Given the description of an element on the screen output the (x, y) to click on. 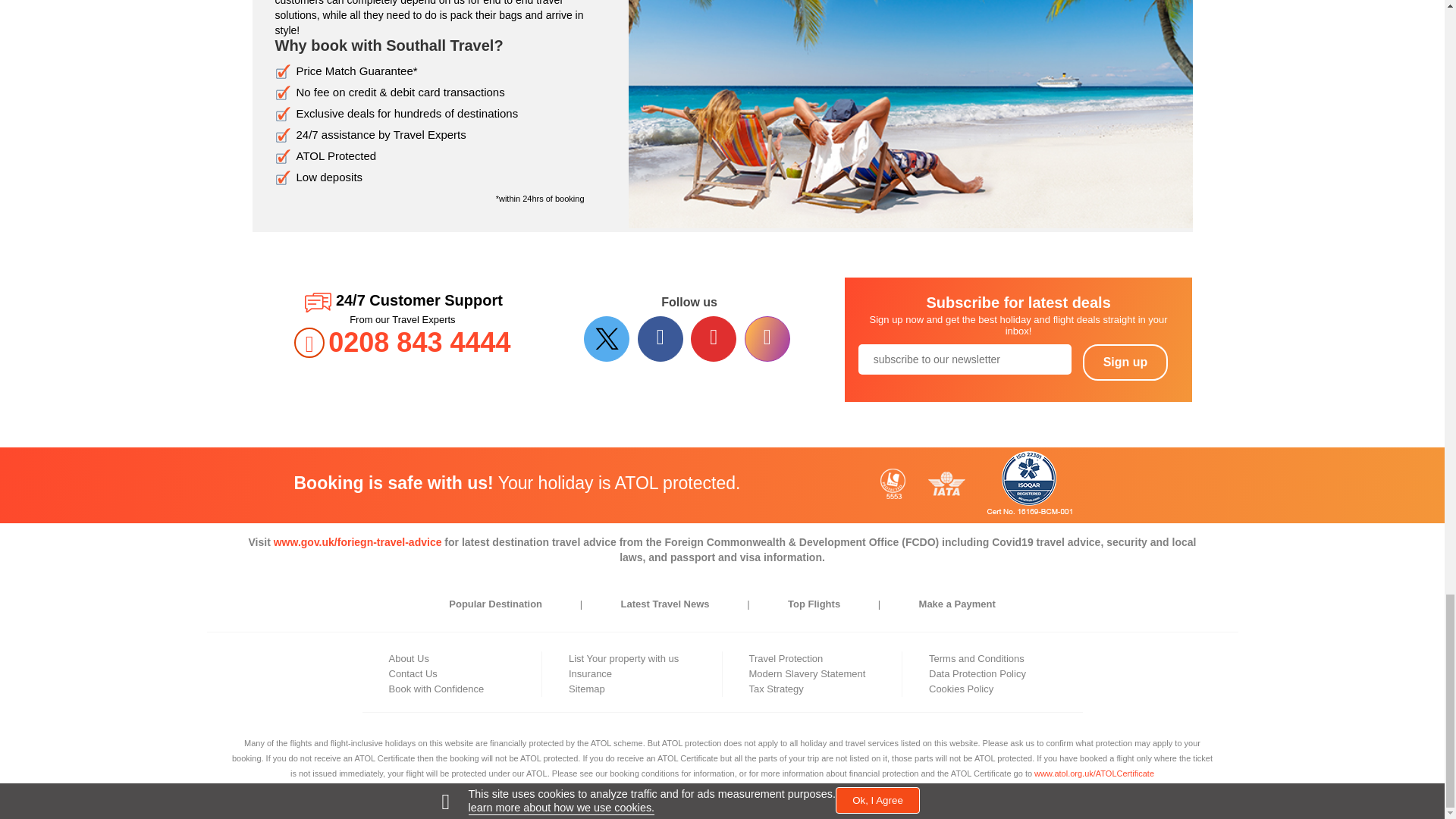
Why our customers love us (909, 113)
twitter (608, 338)
Sign up (1126, 361)
